Given the description of an element on the screen output the (x, y) to click on. 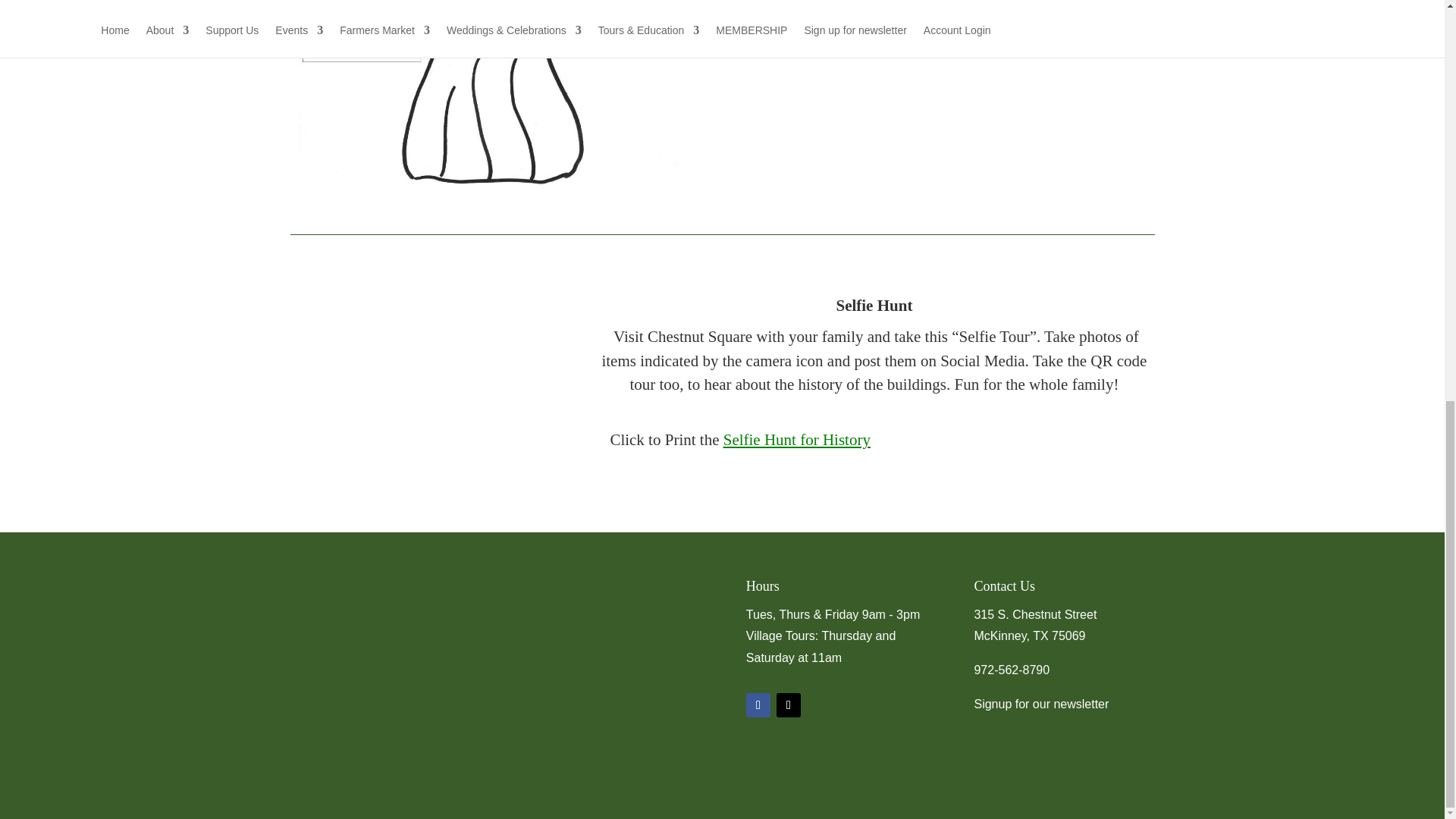
Pocket Nancy (493, 95)
Selfie Hunt for History (796, 439)
Follow on X (788, 704)
Follow on Facebook (757, 704)
